Given the description of an element on the screen output the (x, y) to click on. 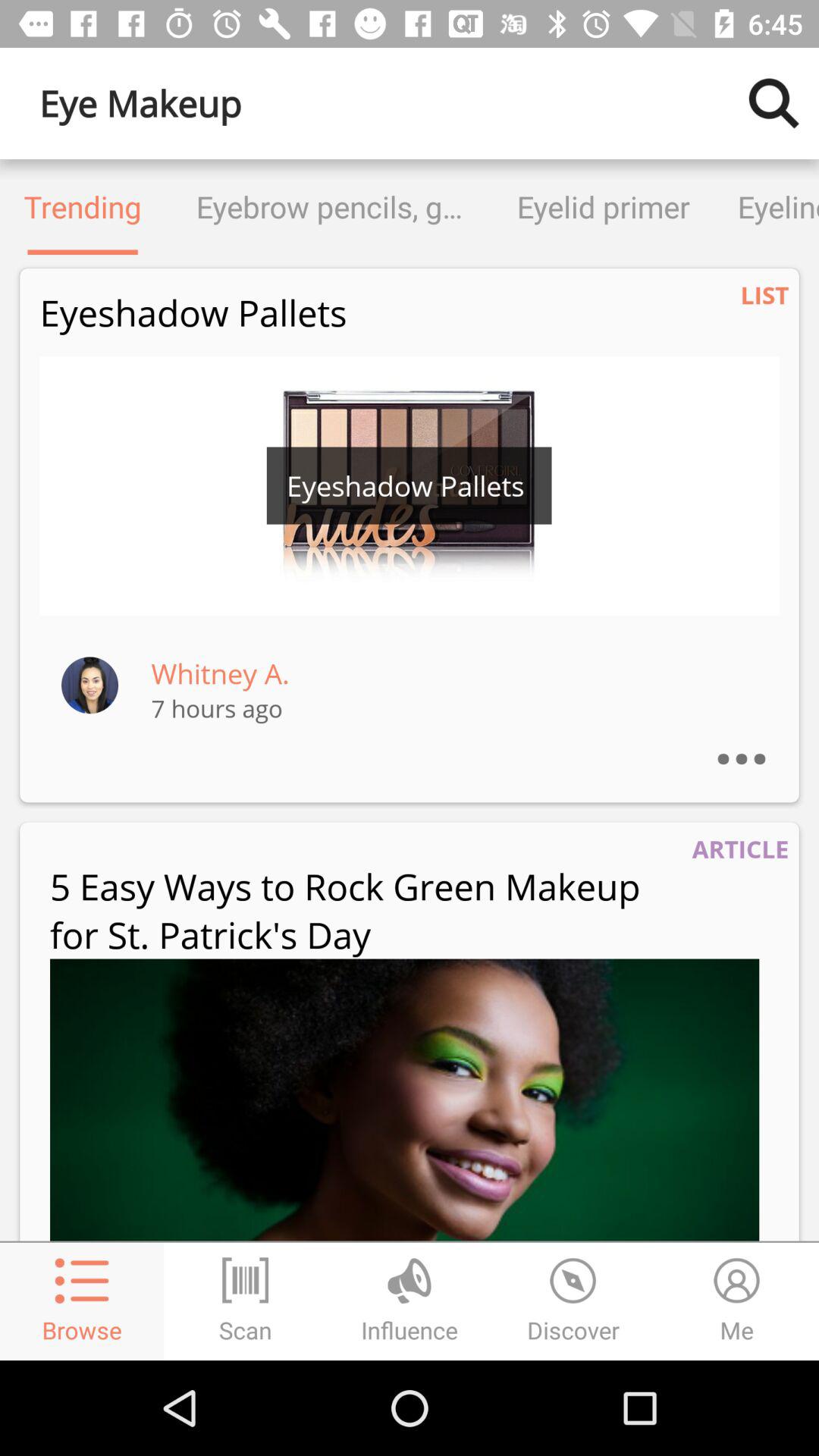
choose item to the right of whitney a. item (756, 738)
